Given the description of an element on the screen output the (x, y) to click on. 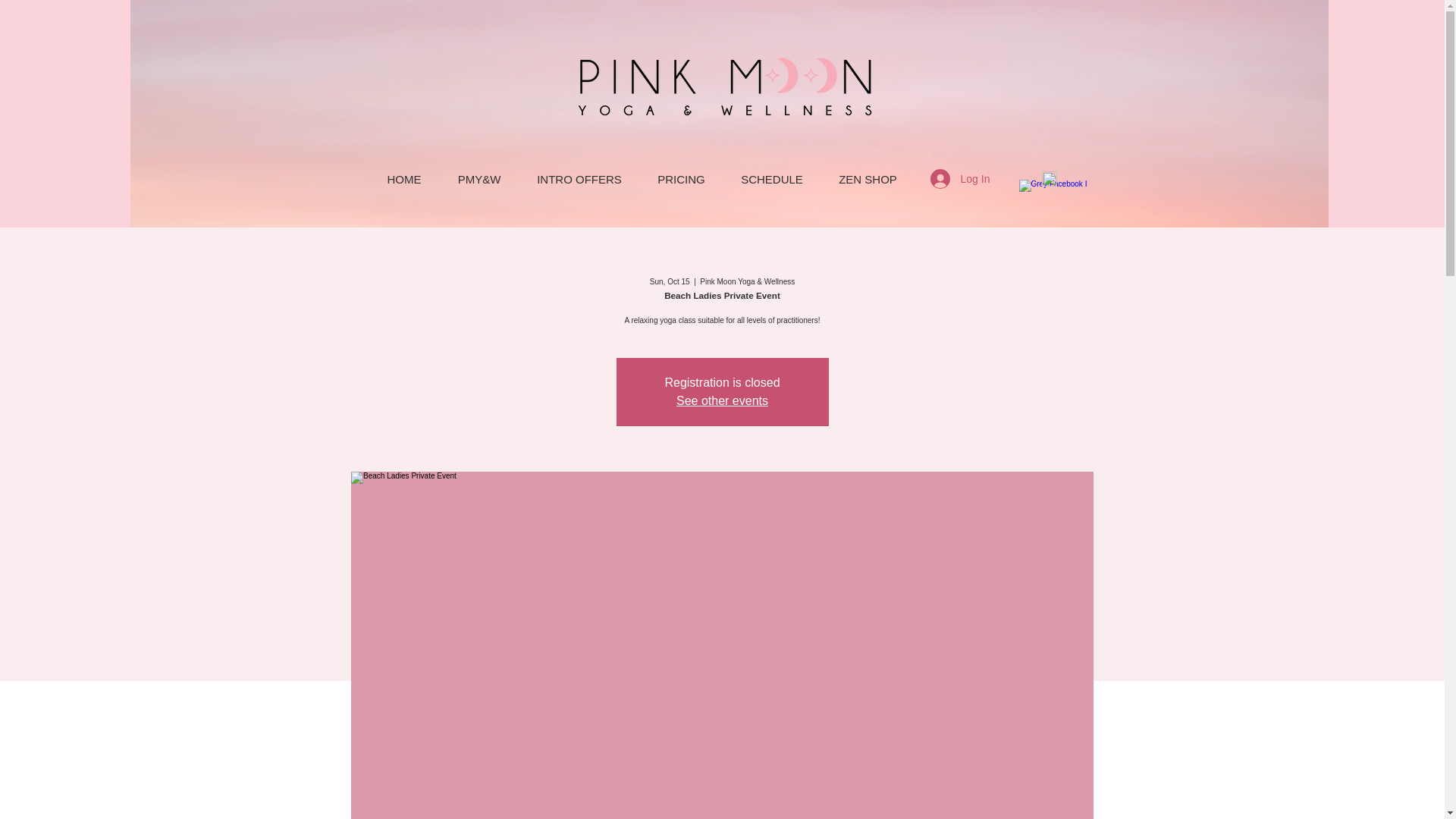
INTRO OFFERS (578, 178)
HOME (403, 178)
See other events (722, 400)
ZEN SHOP (867, 178)
Log In (956, 178)
SCHEDULE (772, 178)
